Given the description of an element on the screen output the (x, y) to click on. 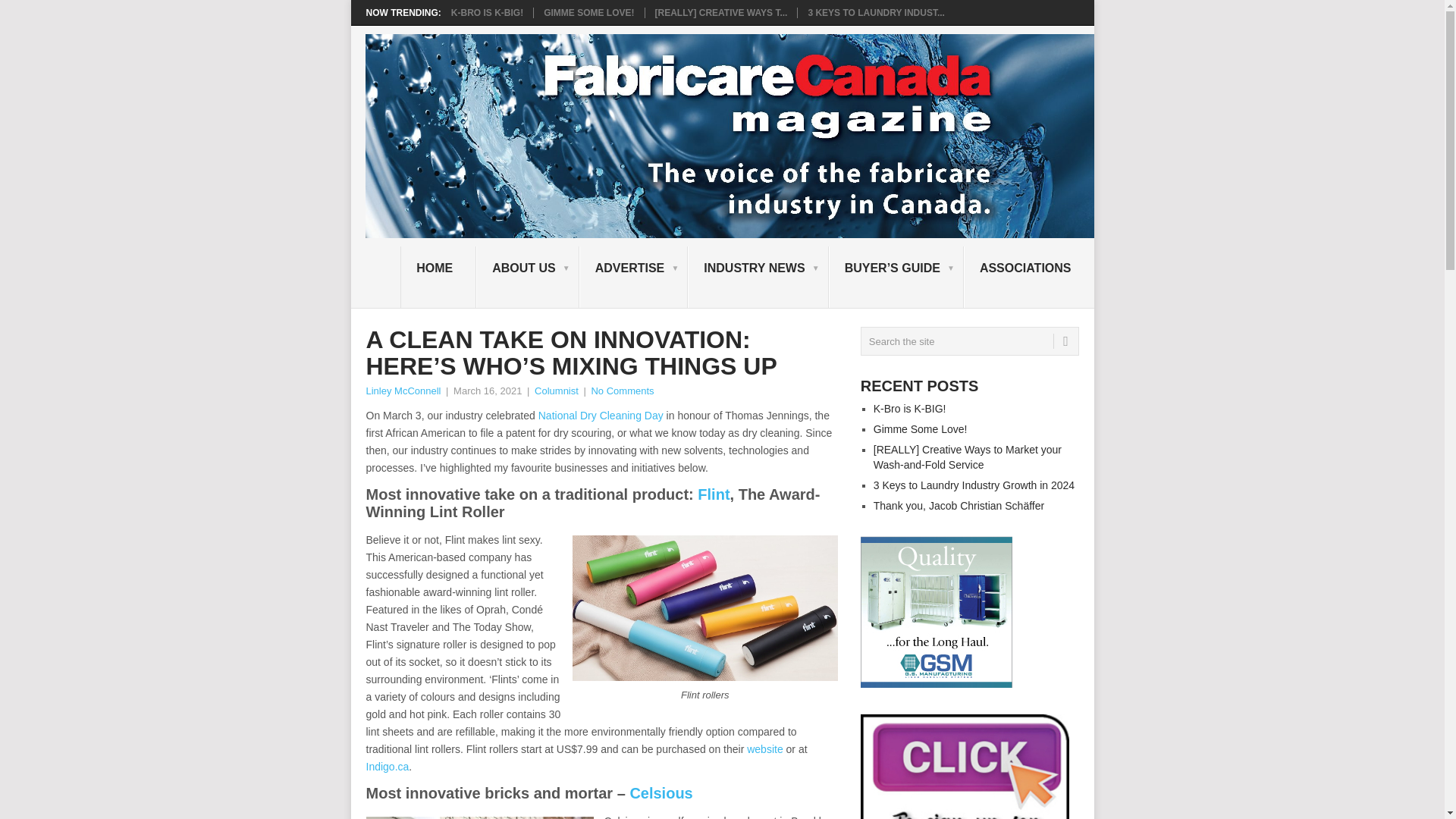
Linley McConnell (403, 390)
3 Keys to Laundry Industry Growth in 2024 (875, 12)
ABOUT US (527, 277)
Columnist (556, 390)
Posts by Linley McConnell (403, 390)
National Dry Cleaning Day (600, 415)
K-Bro is K-BIG! (486, 12)
INDUSTRY NEWS (757, 277)
No Comments (622, 390)
Gimme Some Love! (588, 12)
